Given the description of an element on the screen output the (x, y) to click on. 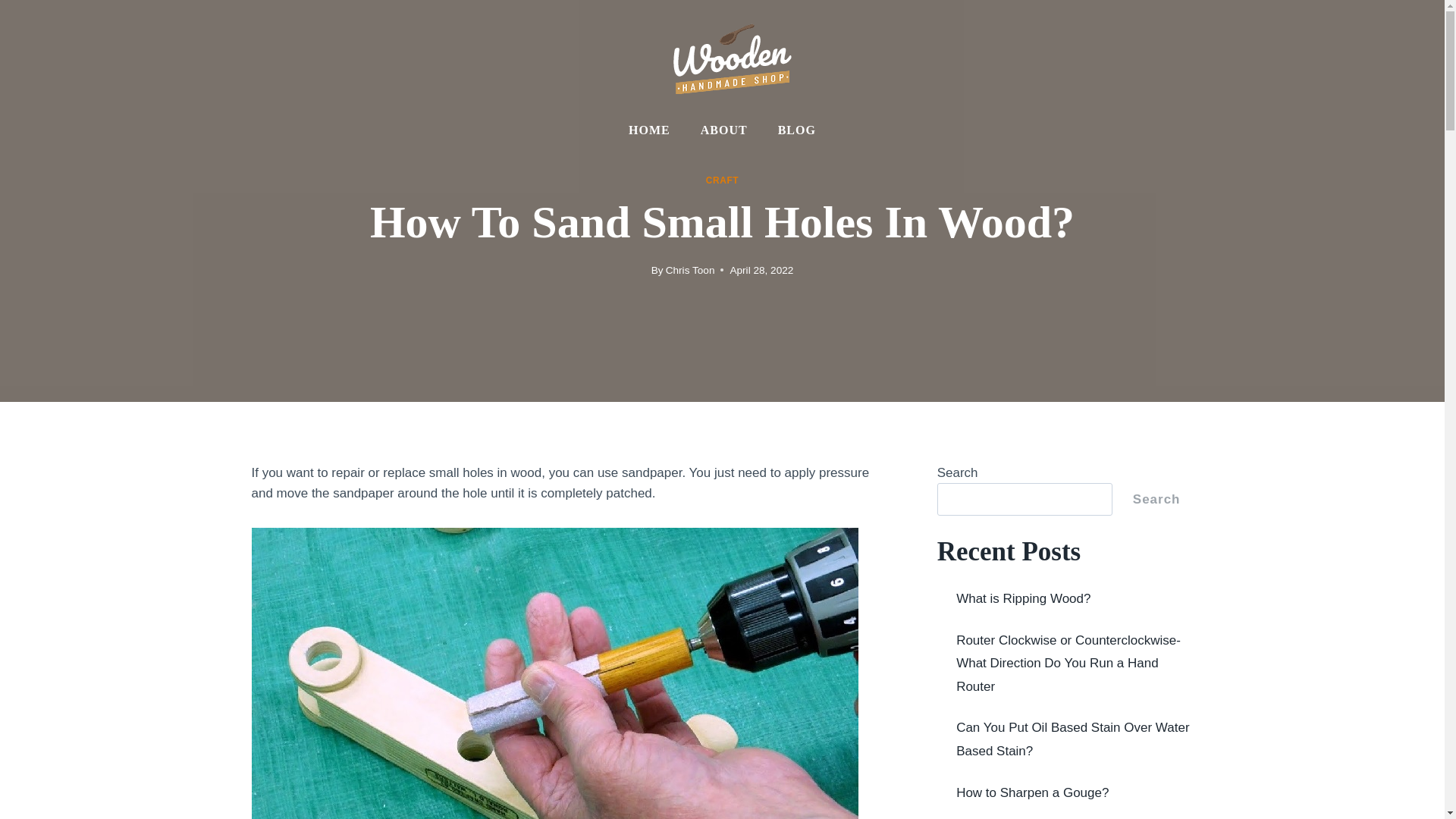
ABOUT (723, 129)
HOME (648, 129)
BLOG (796, 129)
Search (1156, 499)
CRAFT (722, 180)
Chris Toon (689, 270)
